Given the description of an element on the screen output the (x, y) to click on. 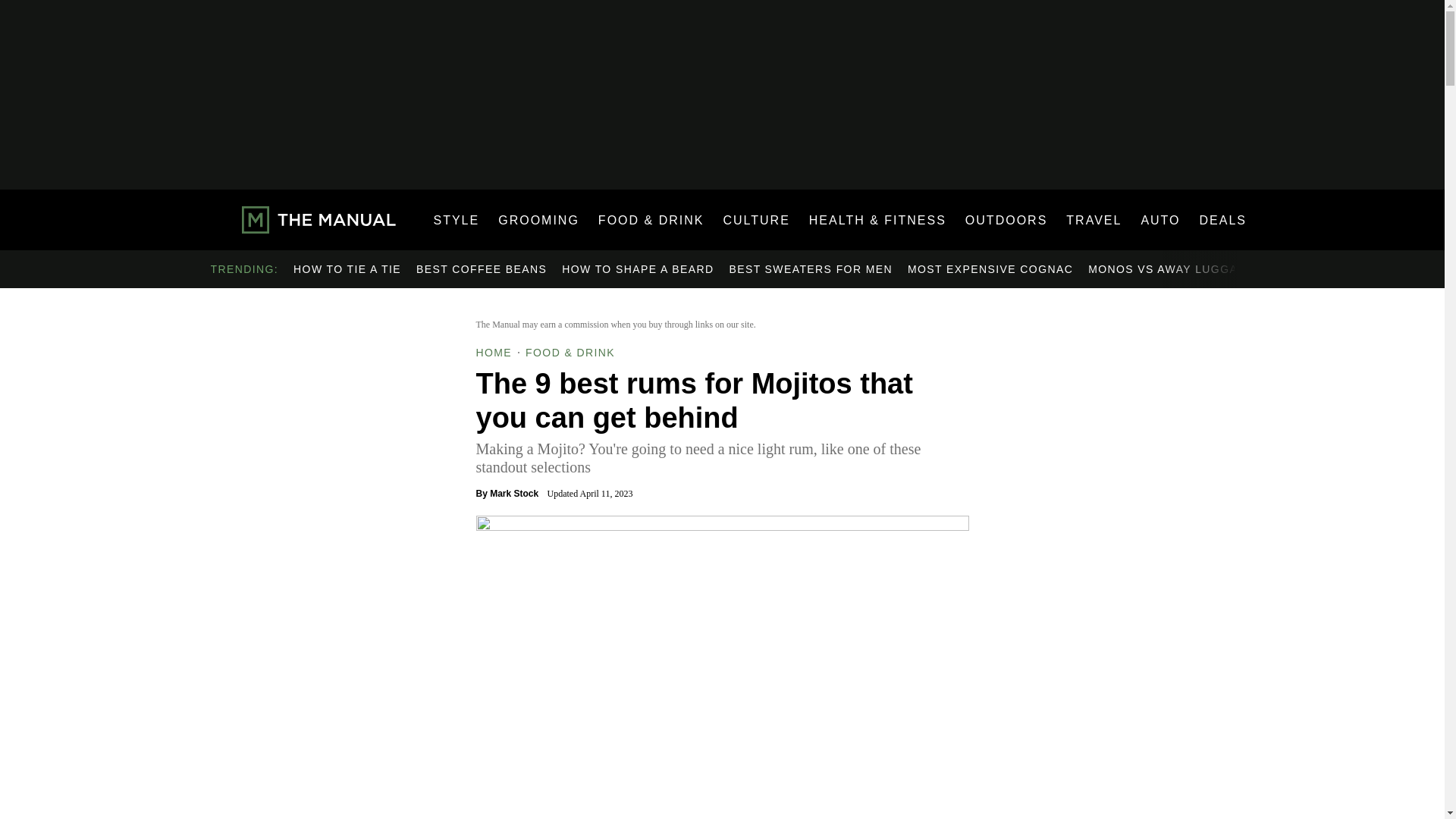
GROOMING (538, 219)
CULTURE (755, 219)
TRAVEL (1093, 219)
OUTDOORS (1005, 219)
